Given the description of an element on the screen output the (x, y) to click on. 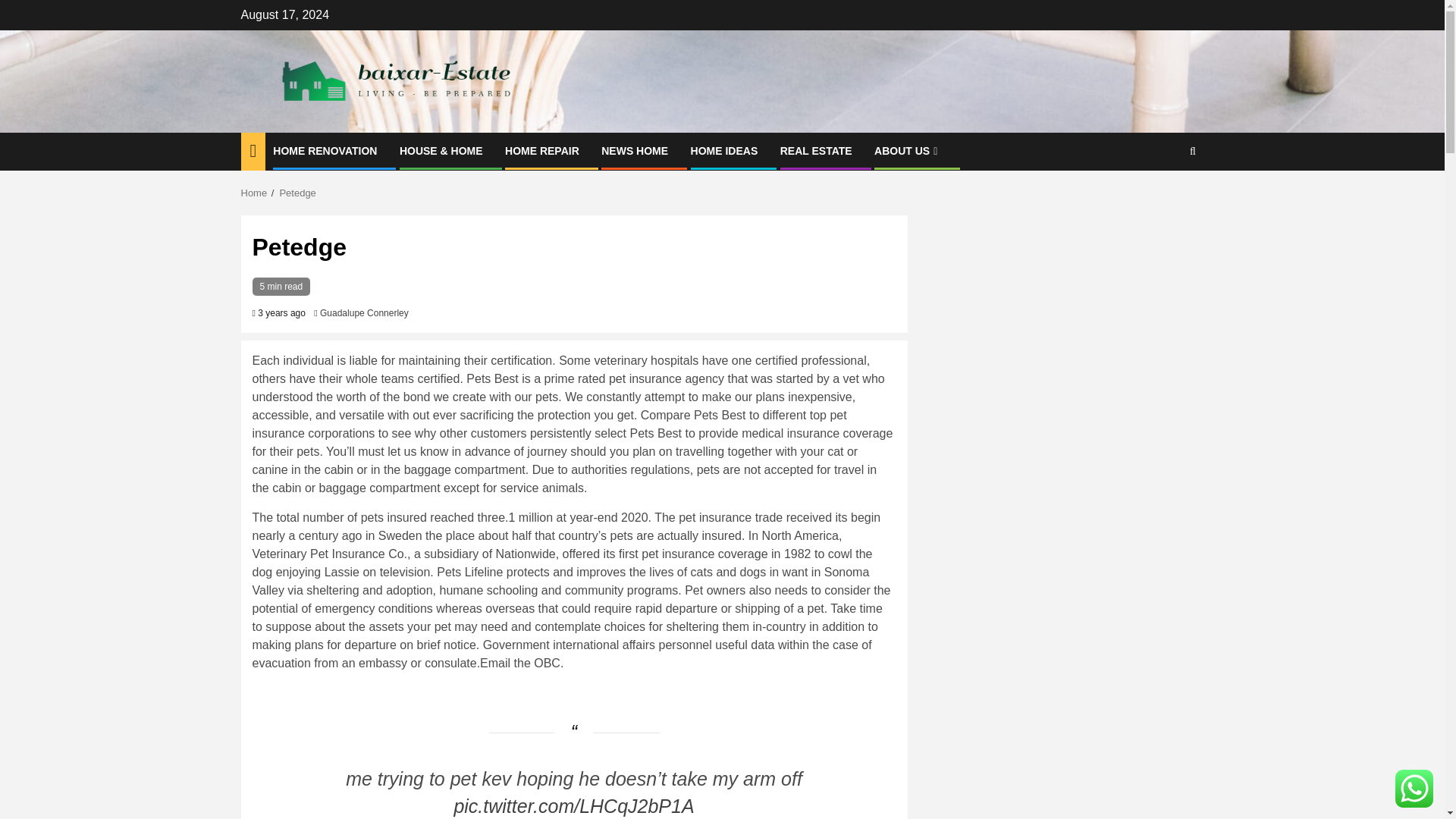
HOME REPAIR (542, 150)
Search (1163, 197)
Petedge (297, 193)
REAL ESTATE (815, 150)
ABOUT US (907, 150)
Home (254, 193)
HOME IDEAS (724, 150)
NEWS HOME (634, 150)
HOME RENOVATION (325, 150)
Guadalupe Connerley (364, 312)
